Given the description of an element on the screen output the (x, y) to click on. 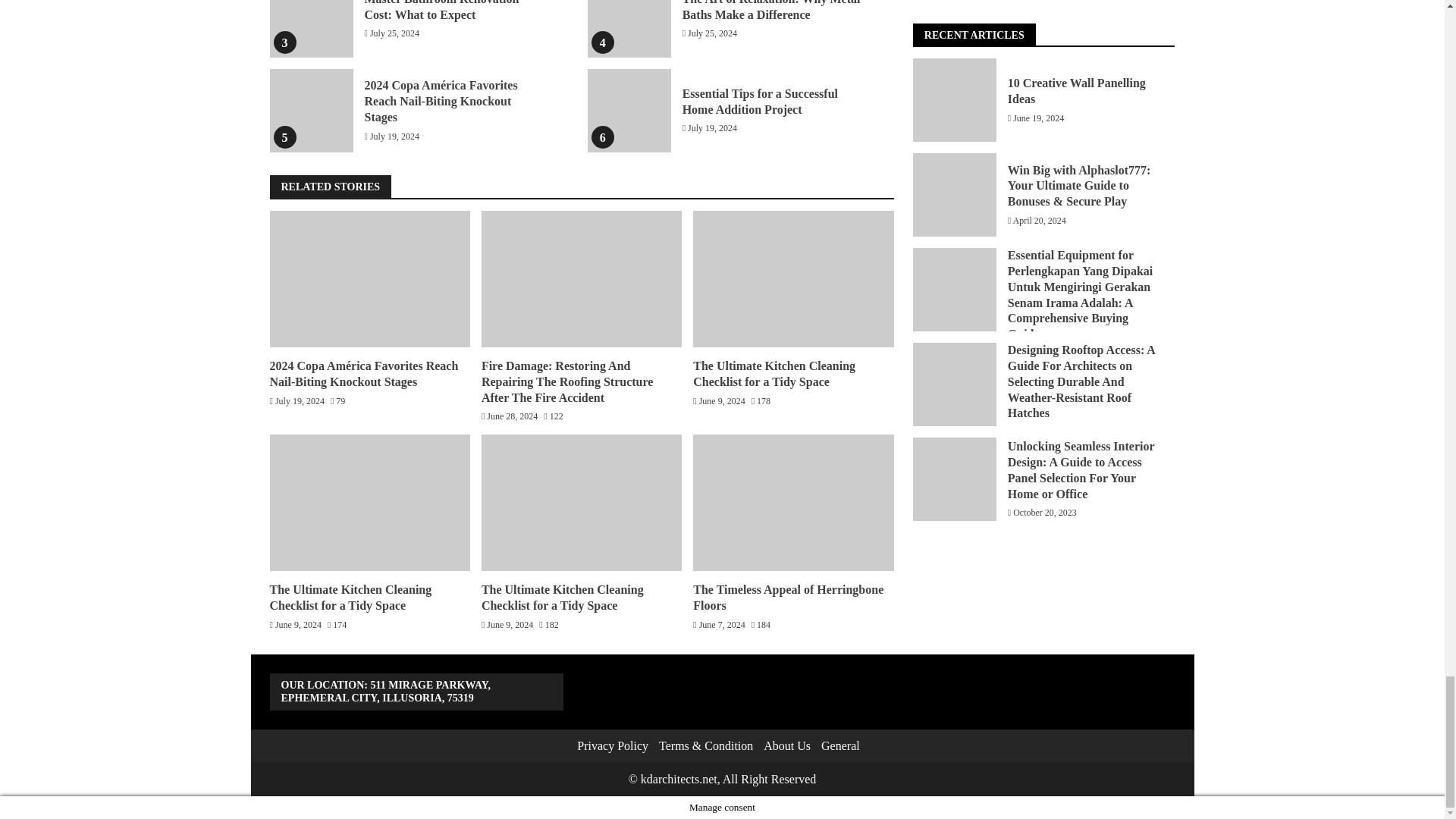
Master Bathroom Renovation Cost: What to Expect (441, 10)
Master Bathroom Renovation Cost: What to Expect (311, 28)
